Given the description of an element on the screen output the (x, y) to click on. 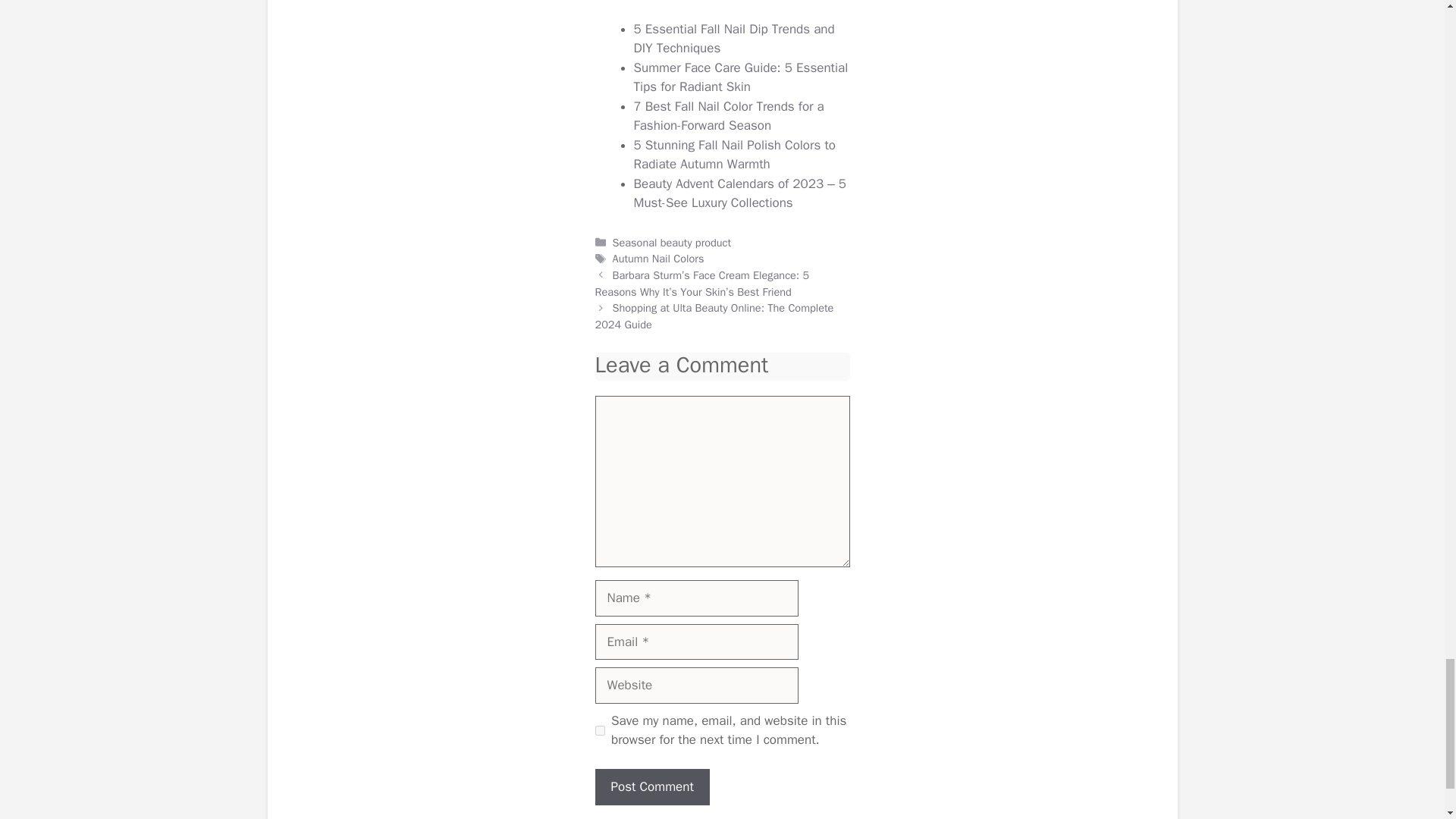
5 Essential Fall Nail Dip Trends and DIY Techniques (733, 38)
Seasonal beauty product (672, 242)
7 Best Fall Nail Color Trends for a Fashion-Forward Season (728, 116)
Post Comment (651, 787)
Shopping at Ulta Beauty Online: The Complete 2024 Guide (713, 316)
Autumn Nail Colors (658, 258)
5 Stunning Fall Nail Polish Colors to Radiate Autumn Warmth (734, 154)
Summer Face Care Guide: 5 Essential Tips for Radiant Skin (740, 77)
yes (599, 730)
Post Comment (651, 787)
